Given the description of an element on the screen output the (x, y) to click on. 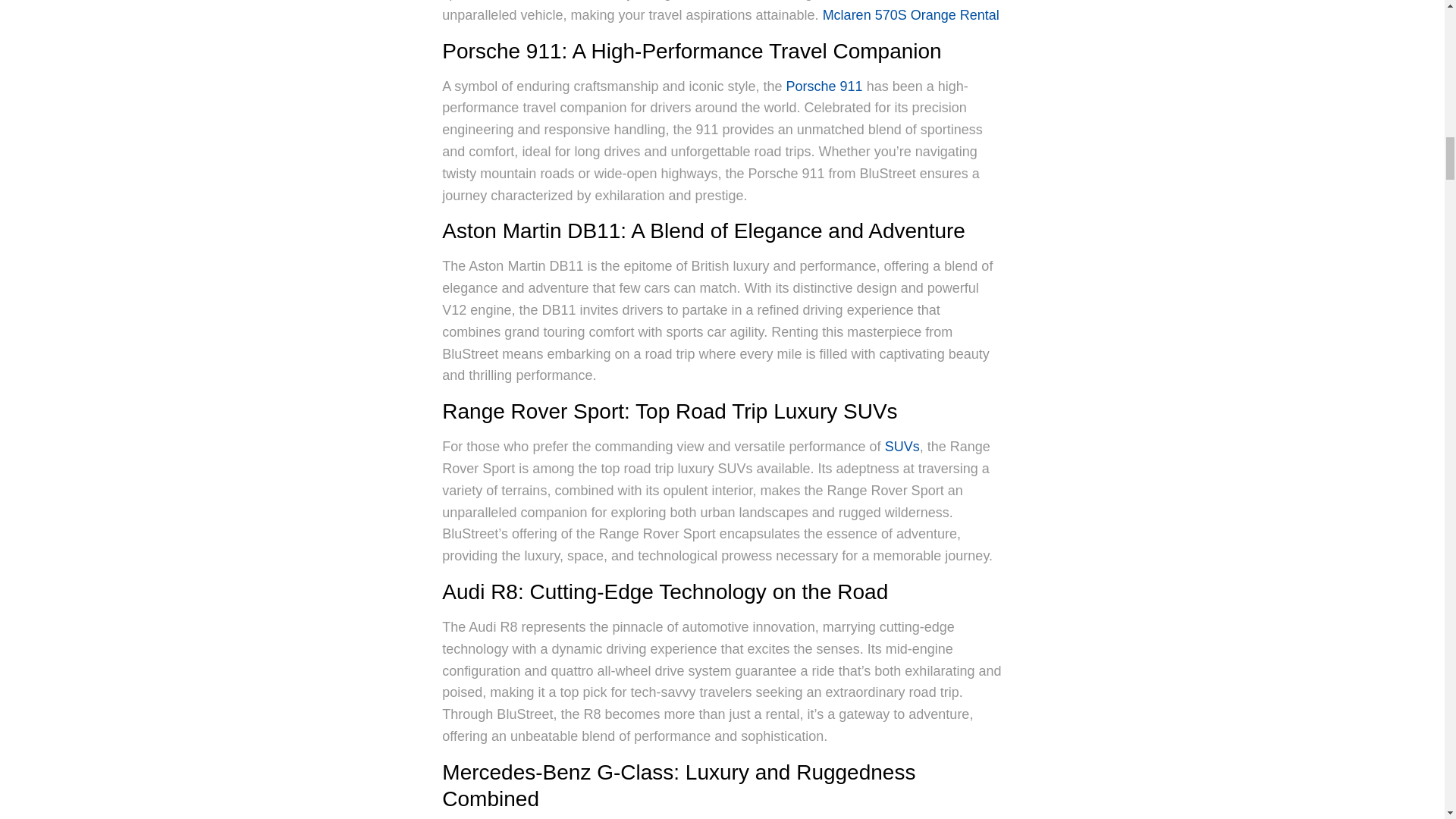
Porsche 911 (824, 86)
SUVs (902, 446)
Mclaren 570S Orange Rental (910, 14)
